Given the description of an element on the screen output the (x, y) to click on. 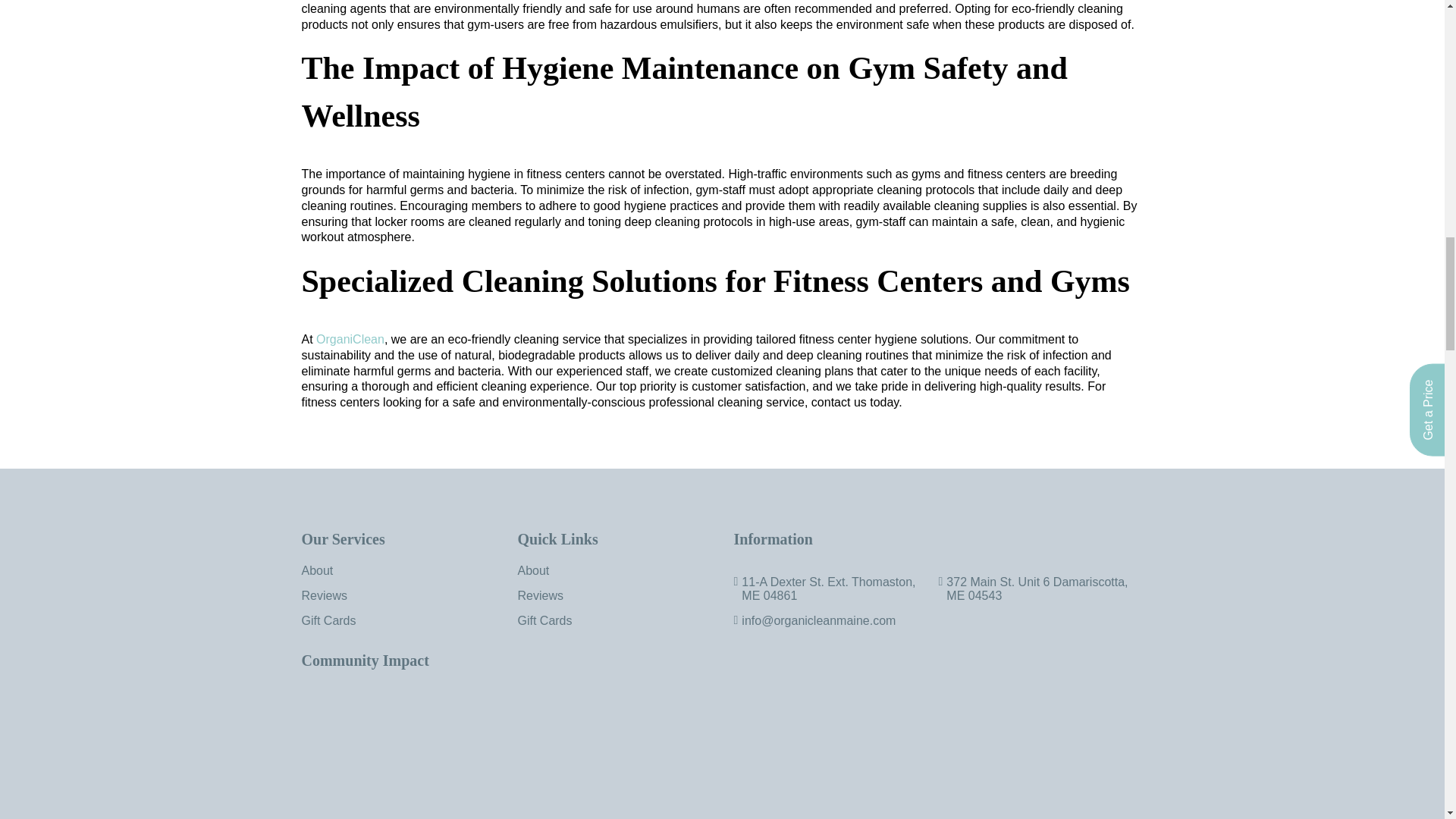
OrganiClean (348, 338)
About (532, 570)
About (317, 570)
Gift Cards (544, 620)
Gift Cards (328, 620)
Reviews (324, 594)
Reviews (539, 594)
